Given the description of an element on the screen output the (x, y) to click on. 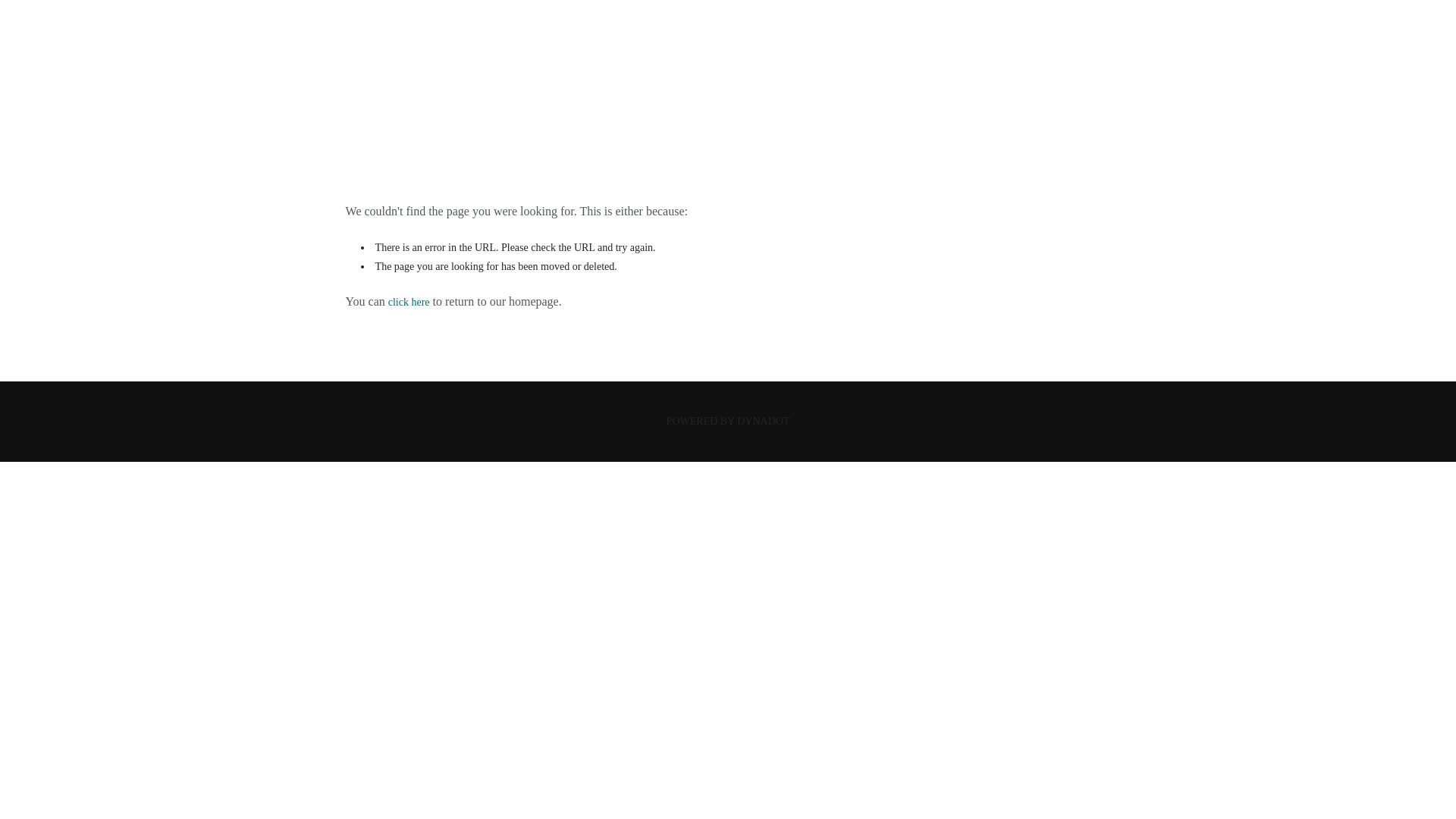
HOME (727, 103)
JOURNEY (727, 48)
POWERED BY DYNADOT (728, 420)
click here (408, 301)
